Given the description of an element on the screen output the (x, y) to click on. 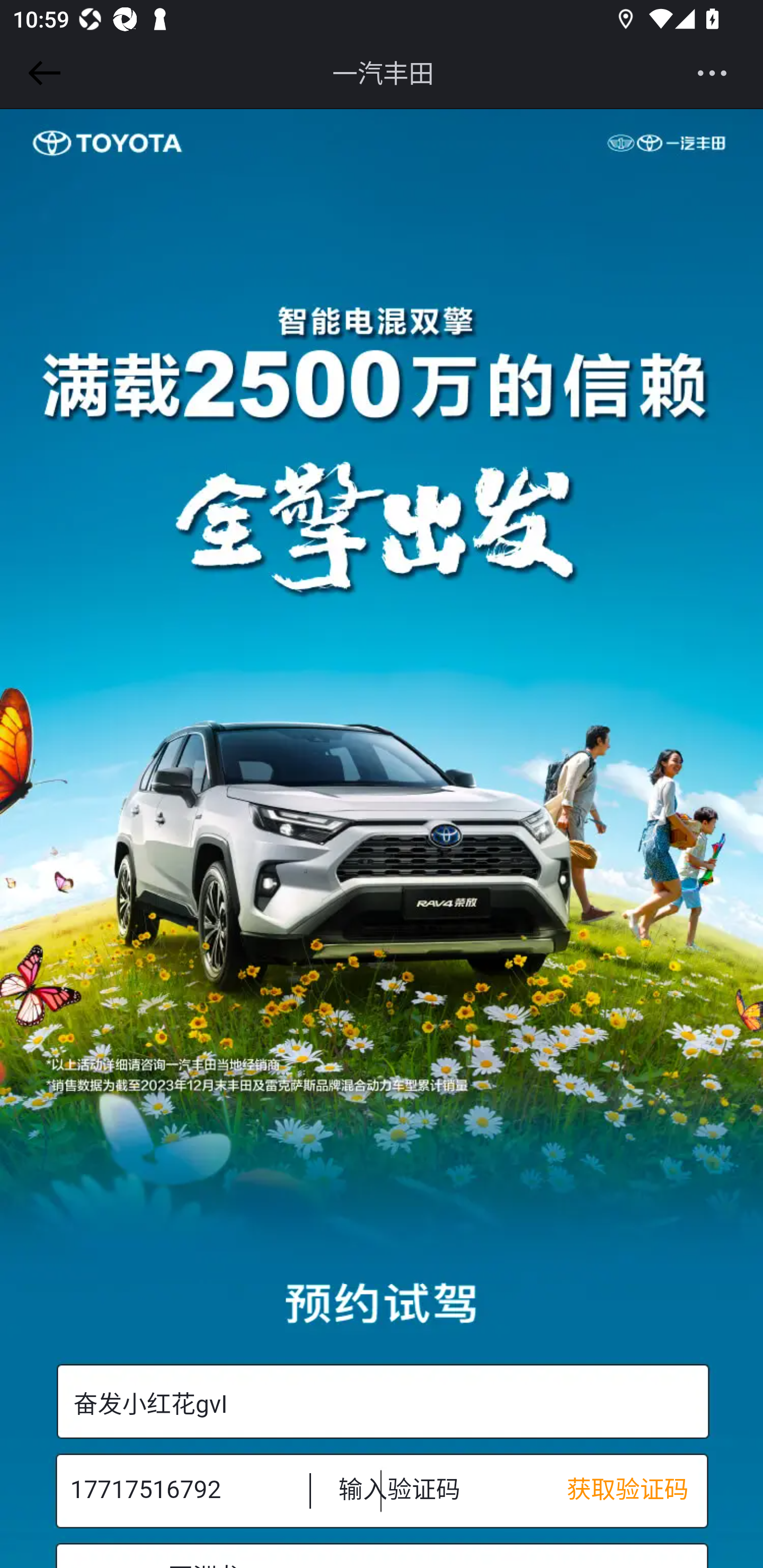
 (41, 72)
奋发小红花gvI (381, 1402)
17717516792 (176, 1490)
获取验证码 (637, 1490)
